Given the description of an element on the screen output the (x, y) to click on. 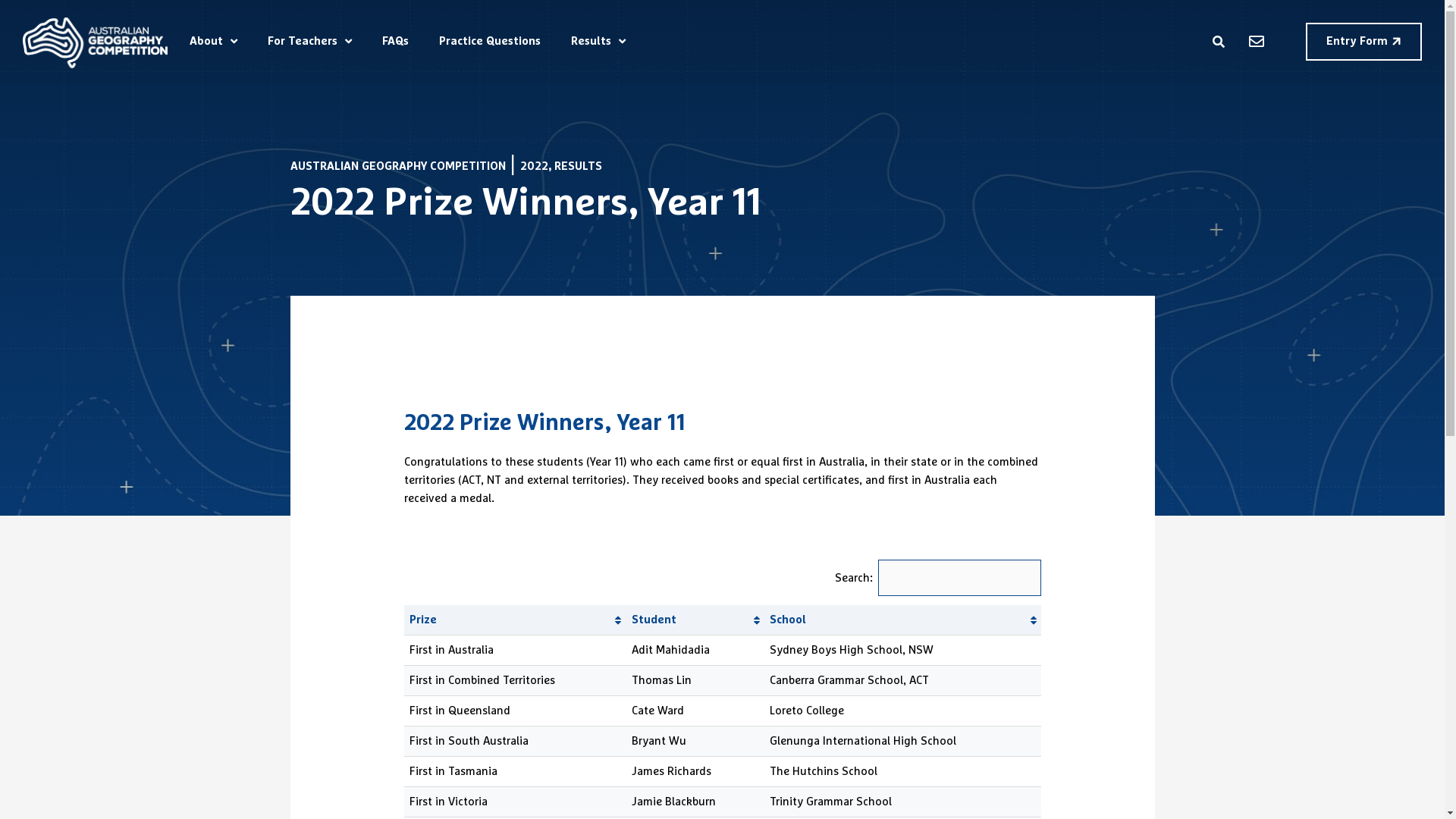
AUSTRALIAN GEOGRAPHY COMPETITION Element type: text (397, 166)
Practice Questions Element type: text (489, 41)
About Element type: text (213, 41)
Results Element type: text (597, 41)
For Teachers Element type: text (309, 41)
2022, RESULTS Element type: text (561, 166)
FAQs Element type: text (395, 41)
Entry Form Element type: text (1363, 41)
